Given the description of an element on the screen output the (x, y) to click on. 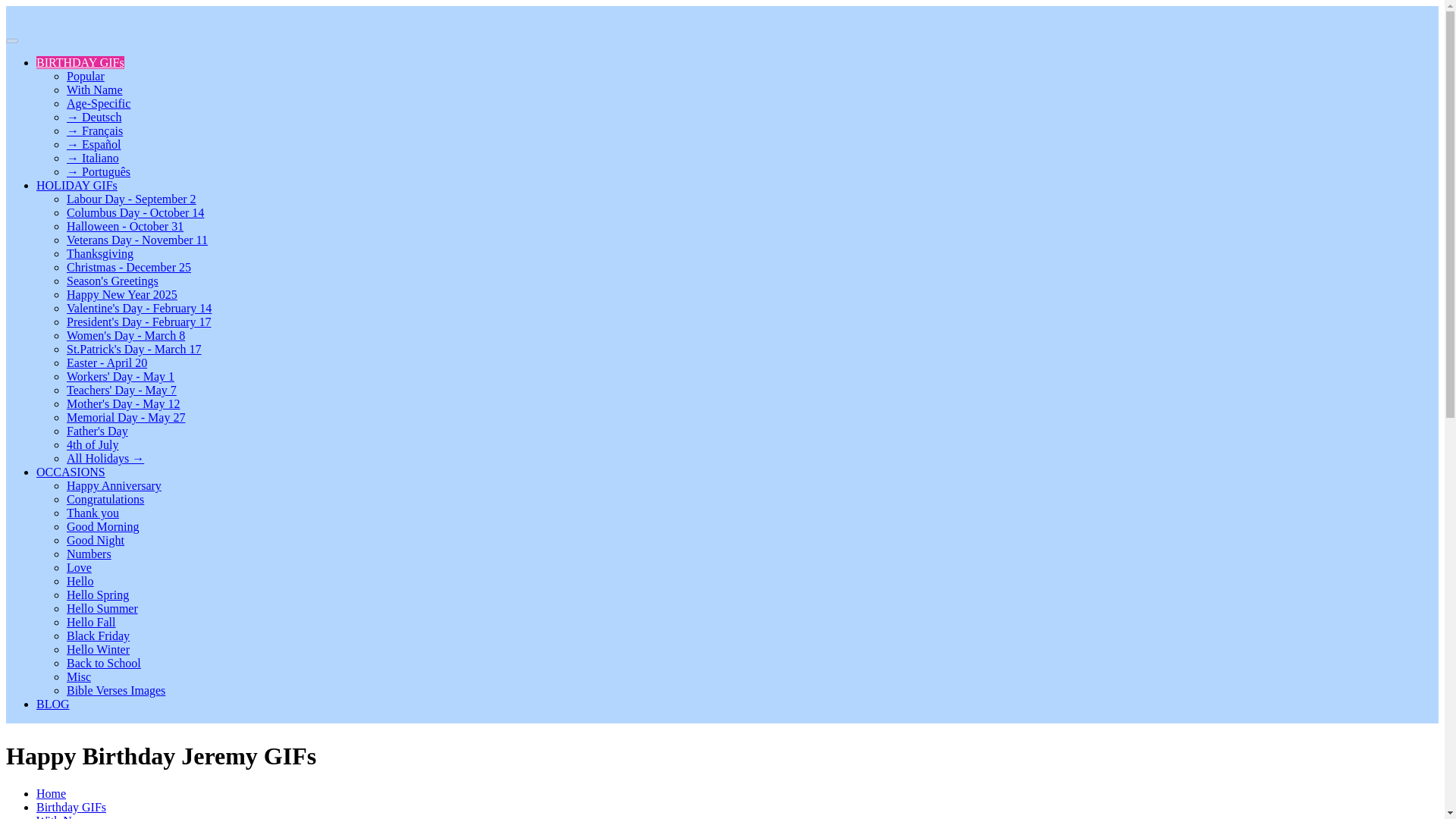
Memorial Day - May 27 (125, 417)
Labour Day - September 2 (131, 198)
Father's Day (97, 431)
Women's Day - March 8 (125, 335)
Teachers' Day - May 7 (121, 390)
Workers' Day - May 1 (120, 376)
Columbus Day - October 14 (134, 212)
Christmas - December 25 (128, 267)
Good Morning (102, 526)
Happy New Year 2025 (121, 294)
Thanksgiving (99, 253)
Happy Anniversary (113, 485)
Halloween - October 31 (124, 226)
Love (78, 567)
Numbers (89, 553)
